Given the description of an element on the screen output the (x, y) to click on. 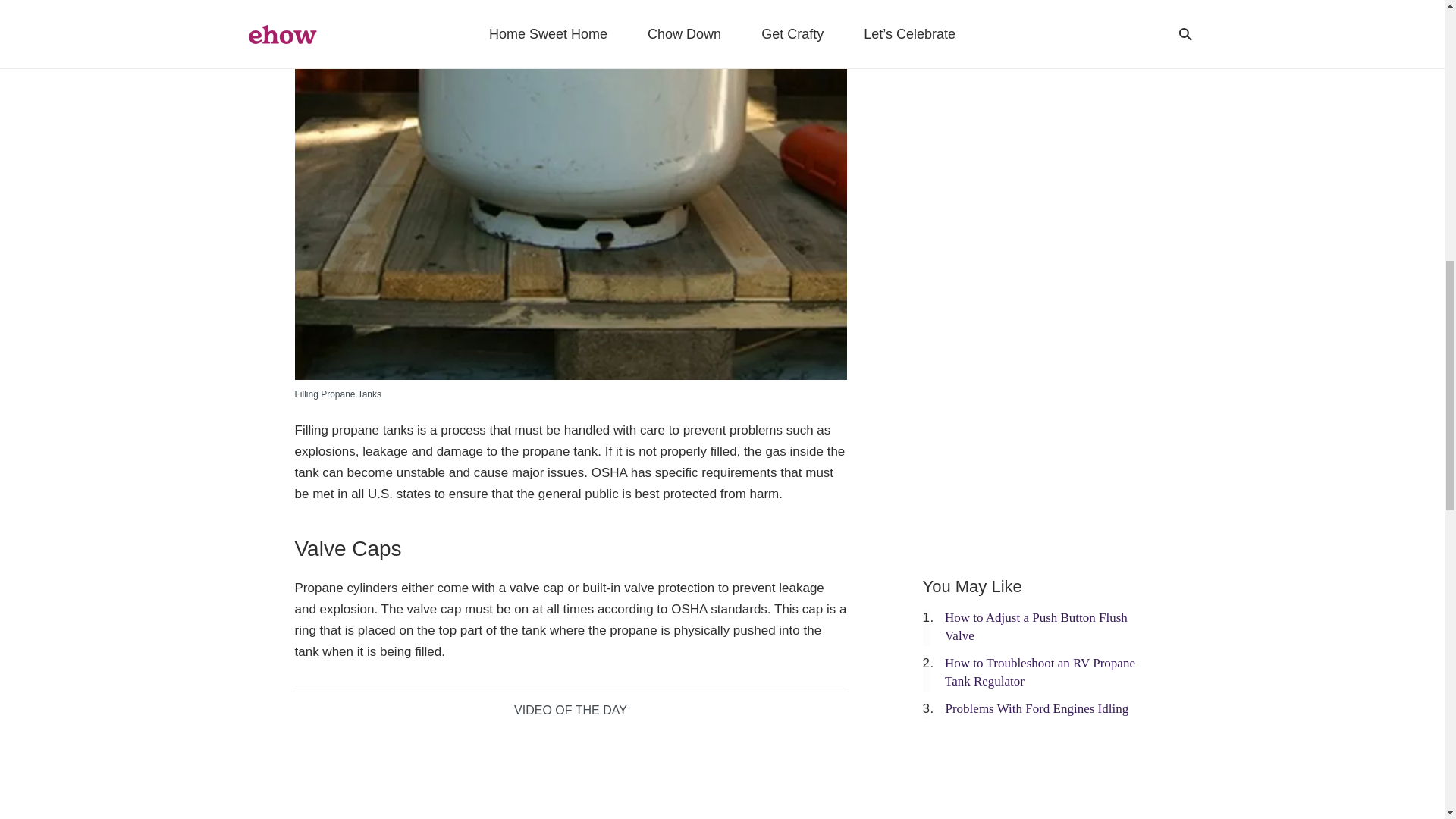
How to Troubleshoot an RV Propane Tank Regulator (1039, 672)
How to Adjust a Push Button Flush Valve (1035, 626)
Problems With Ford Engines Idling (1036, 708)
